Given the description of an element on the screen output the (x, y) to click on. 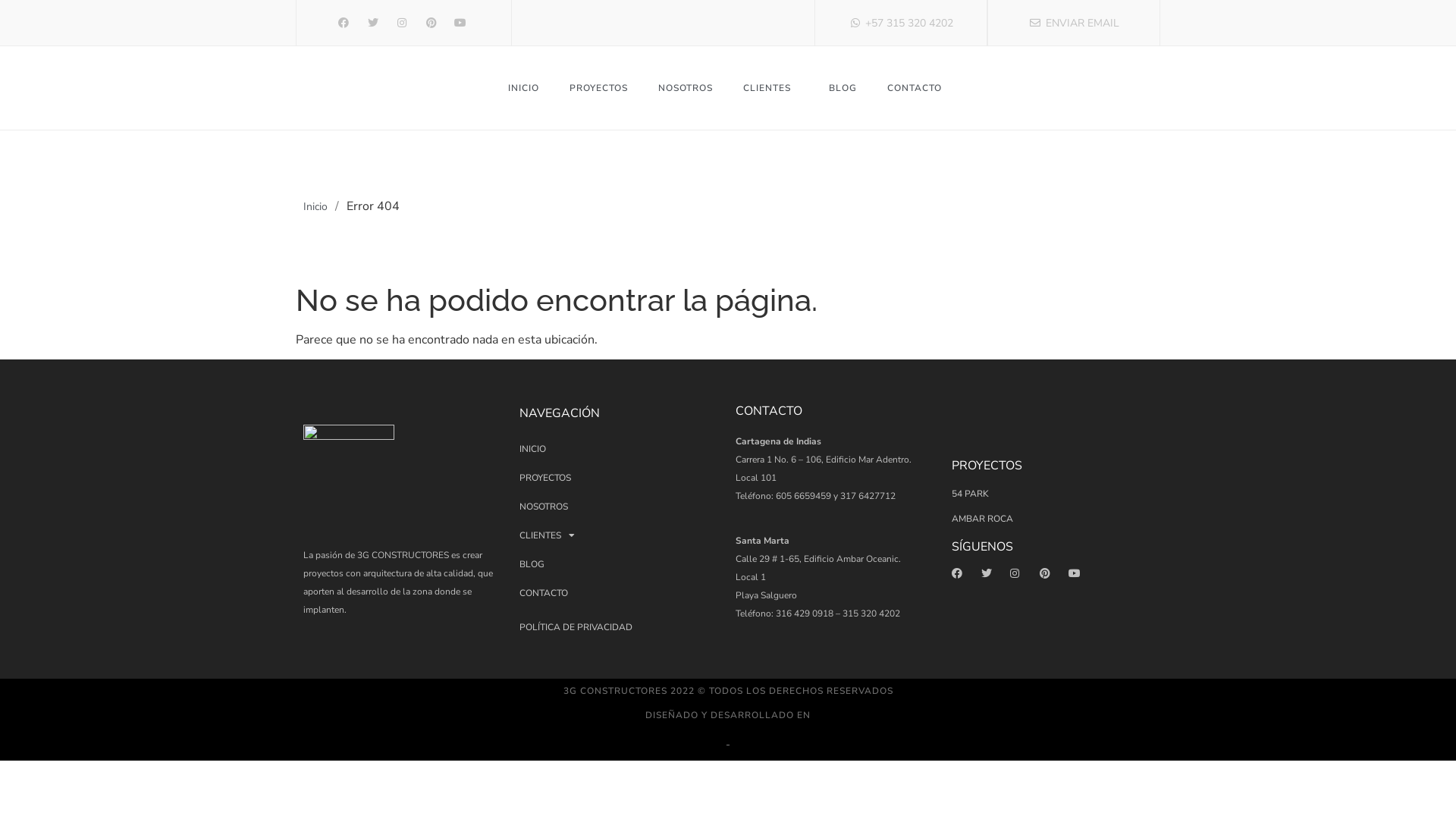
INICIO Element type: text (523, 87)
PROYECTOS Element type: text (619, 477)
Inicio Element type: text (315, 206)
CLIENTES Element type: text (619, 534)
CONTACTO Element type: text (914, 87)
BLOG Element type: text (842, 87)
NOSOTROS Element type: text (619, 506)
BLOG Element type: text (619, 563)
AMBAR ROCA Element type: text (1051, 518)
+57 315 320 4202 Element type: text (900, 23)
INICIO Element type: text (619, 448)
54 PARK Element type: text (1051, 493)
NOSOTROS Element type: text (685, 87)
CONTACTO Element type: text (619, 592)
PROYECTOS Element type: text (598, 87)
ENVIAR EMAIL Element type: text (1073, 23)
CLIENTES Element type: text (770, 87)
